Given the description of an element on the screen output the (x, y) to click on. 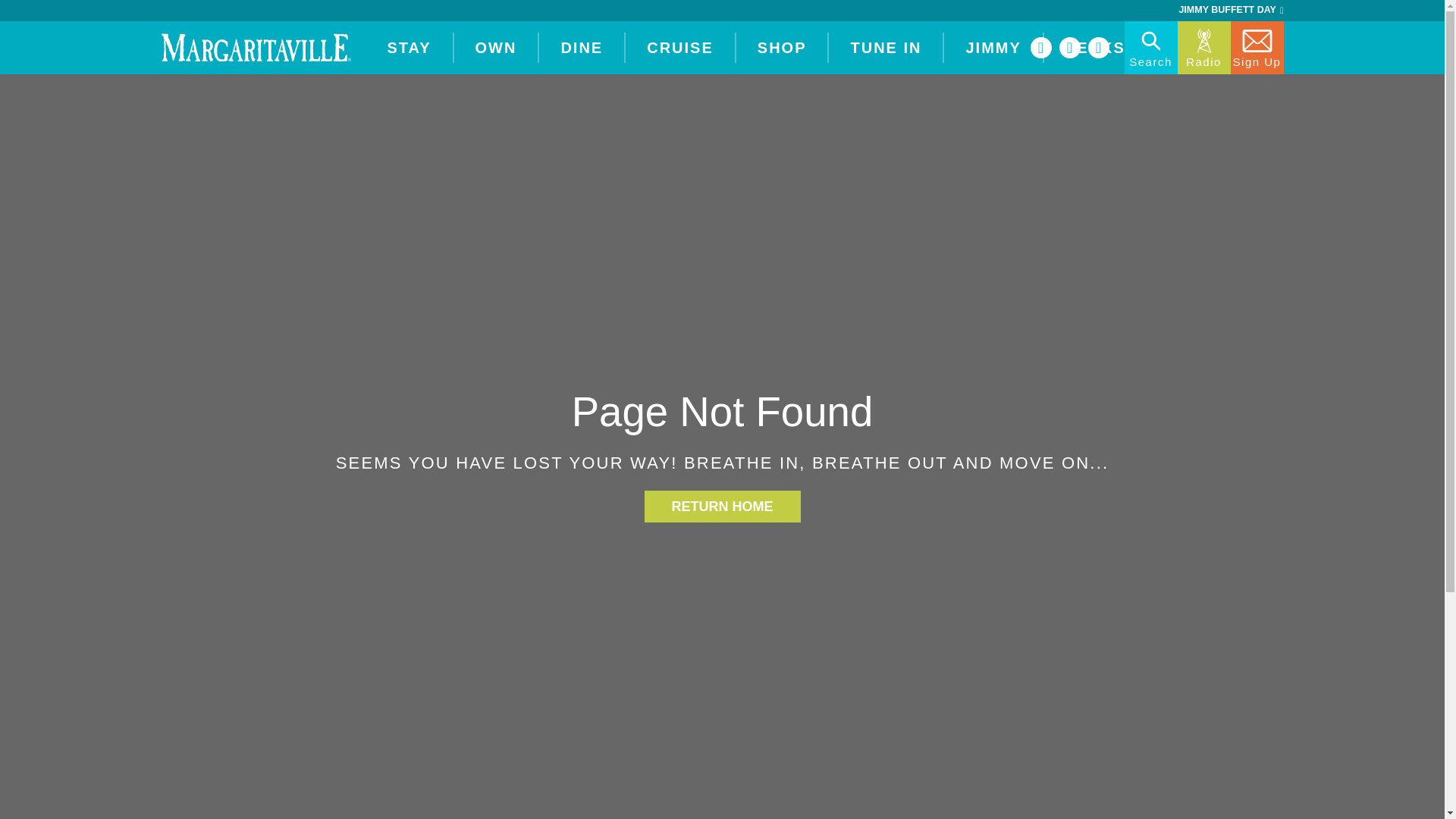
JIMMY (992, 46)
Sign Up (1256, 47)
DINE (581, 46)
STAY (408, 46)
TUNE IN (885, 46)
JIMMY BUFFETT DAY (1229, 10)
SHOP (782, 46)
Radio (1203, 47)
Search (1150, 47)
OWN (496, 46)
